Given the description of an element on the screen output the (x, y) to click on. 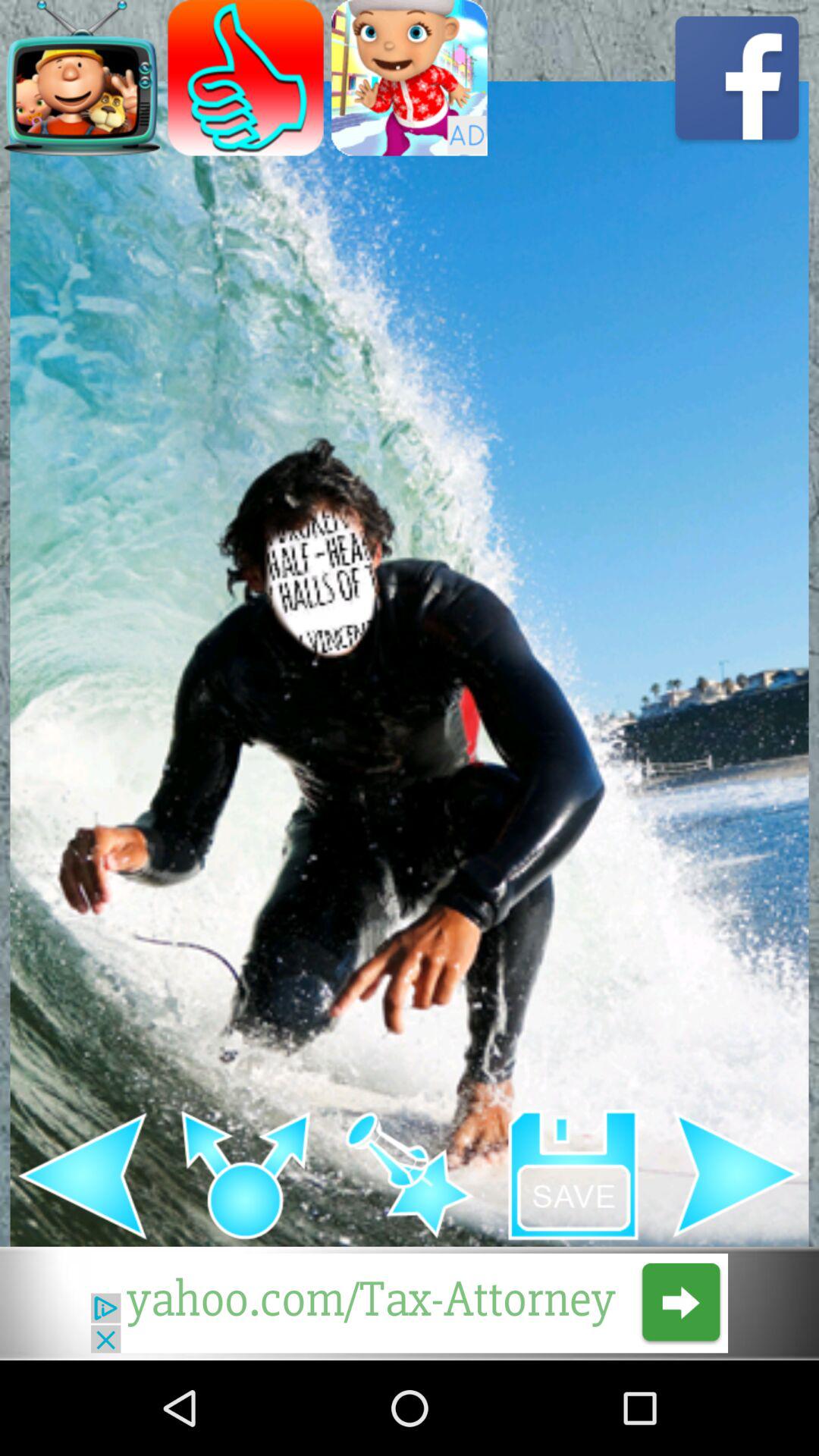
go to next (409, 1303)
